Given the description of an element on the screen output the (x, y) to click on. 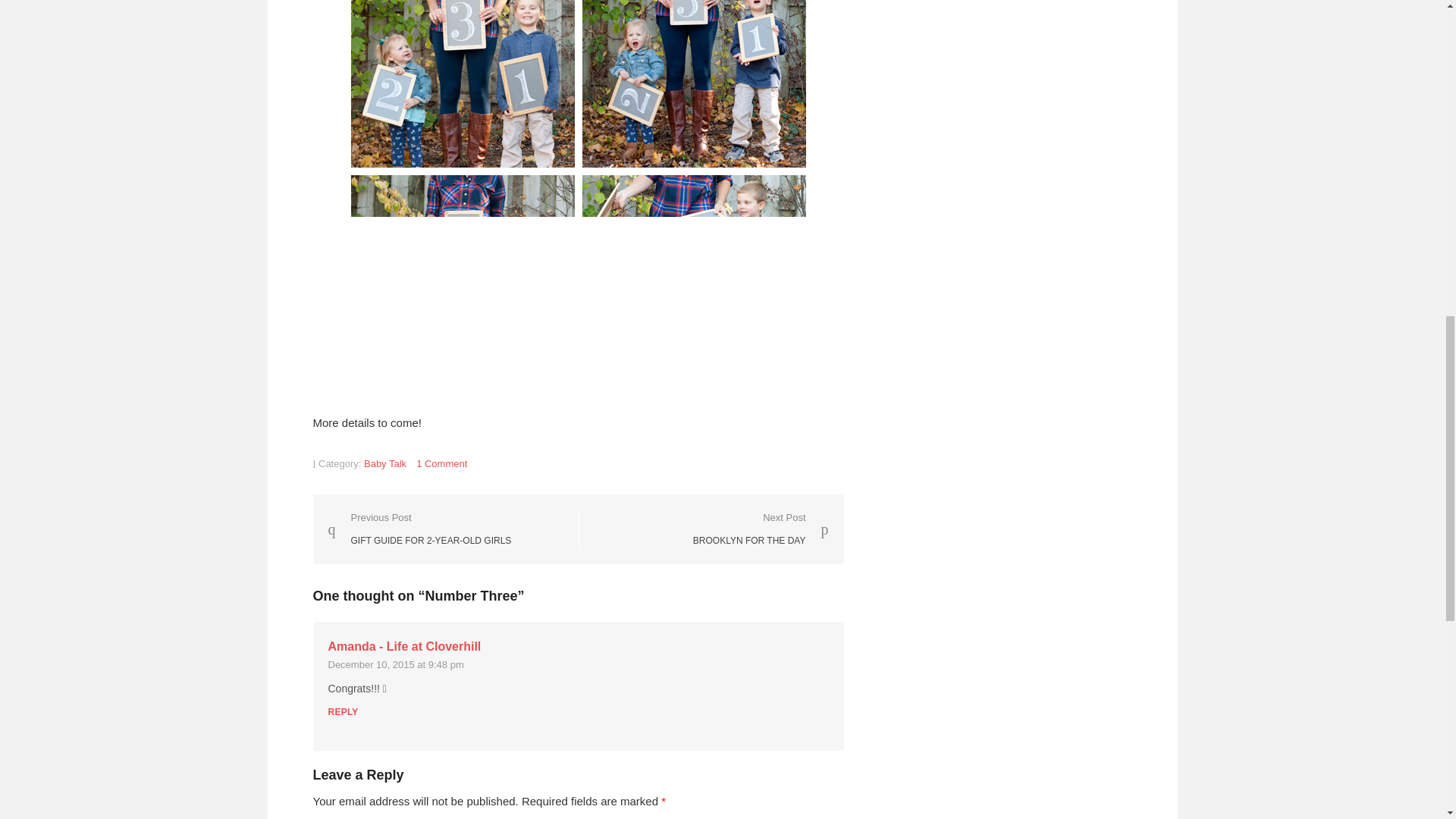
1 Comment (441, 463)
REPLY (760, 528)
December 10, 2015 at 9:48 pm (342, 711)
Amanda - Life at Cloverhill (395, 664)
Baby Talk (403, 645)
